Given the description of an element on the screen output the (x, y) to click on. 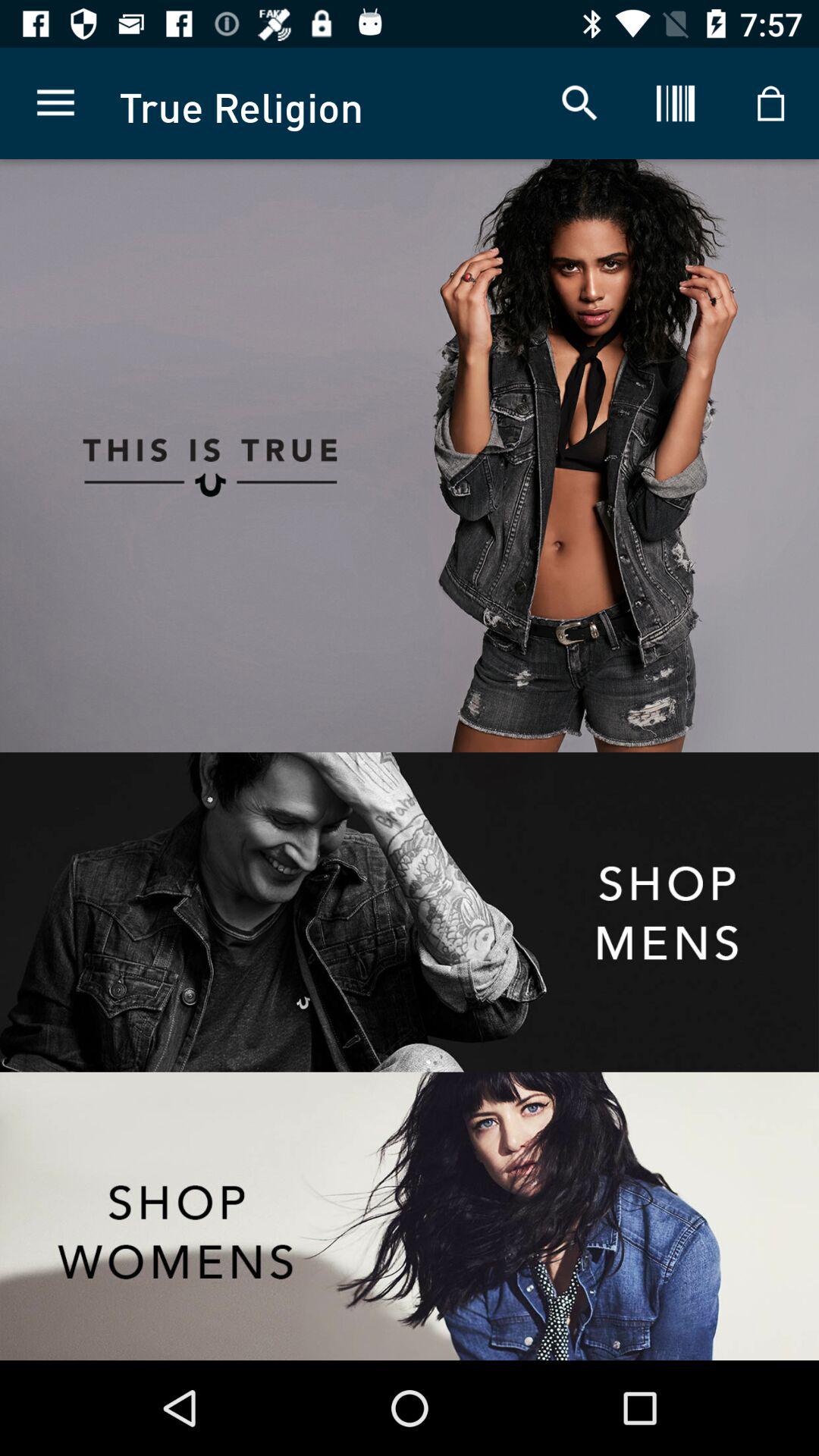
click on the advertisement (204, 455)
